Given the description of an element on the screen output the (x, y) to click on. 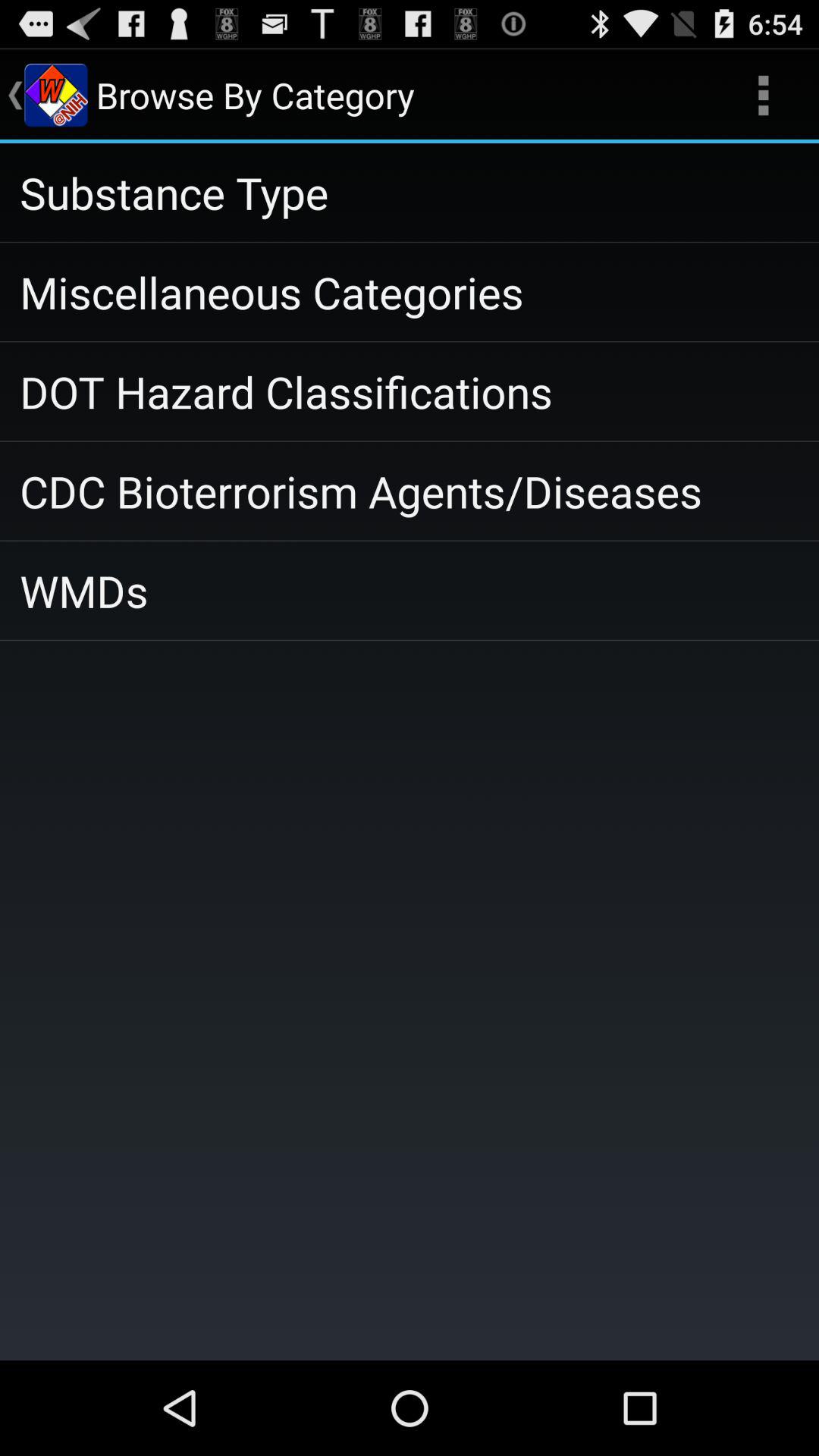
launch dot hazard classifications icon (409, 391)
